Given the description of an element on the screen output the (x, y) to click on. 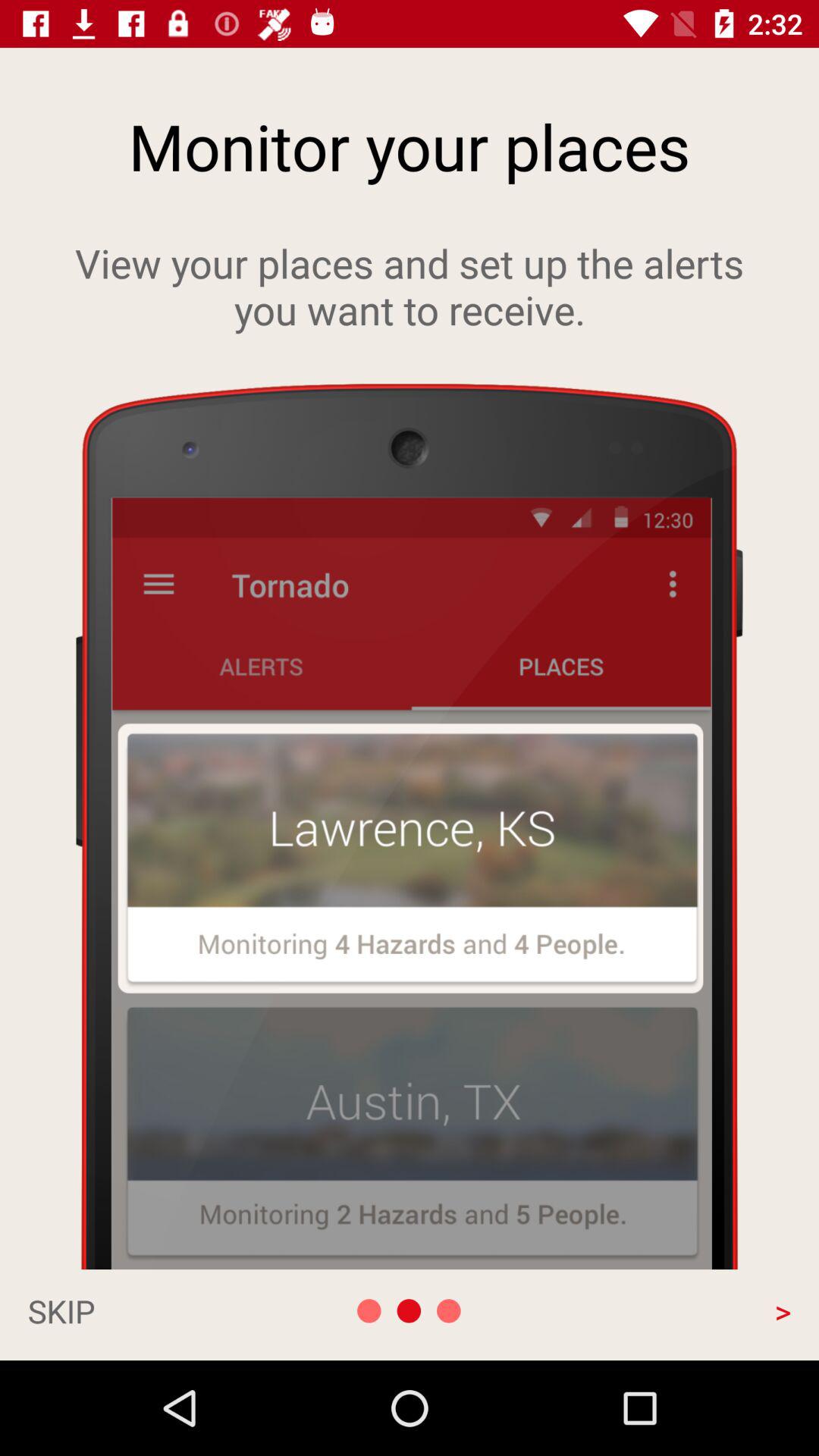
select skip at the bottom left corner (141, 1310)
